Given the description of an element on the screen output the (x, y) to click on. 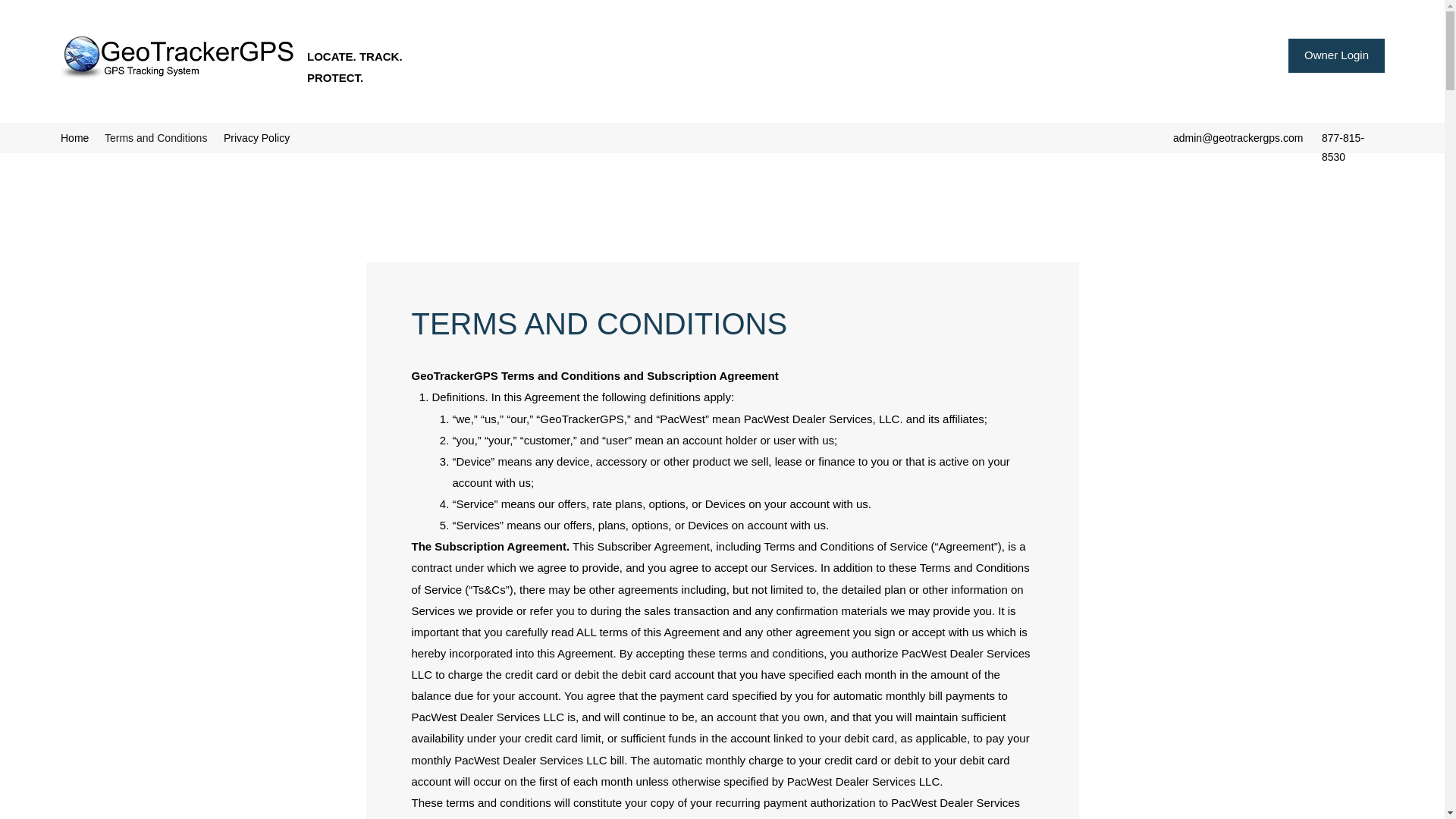
Privacy Policy (253, 137)
Home (74, 137)
Terms and Conditions (156, 137)
Owner Login (1336, 55)
